Given the description of an element on the screen output the (x, y) to click on. 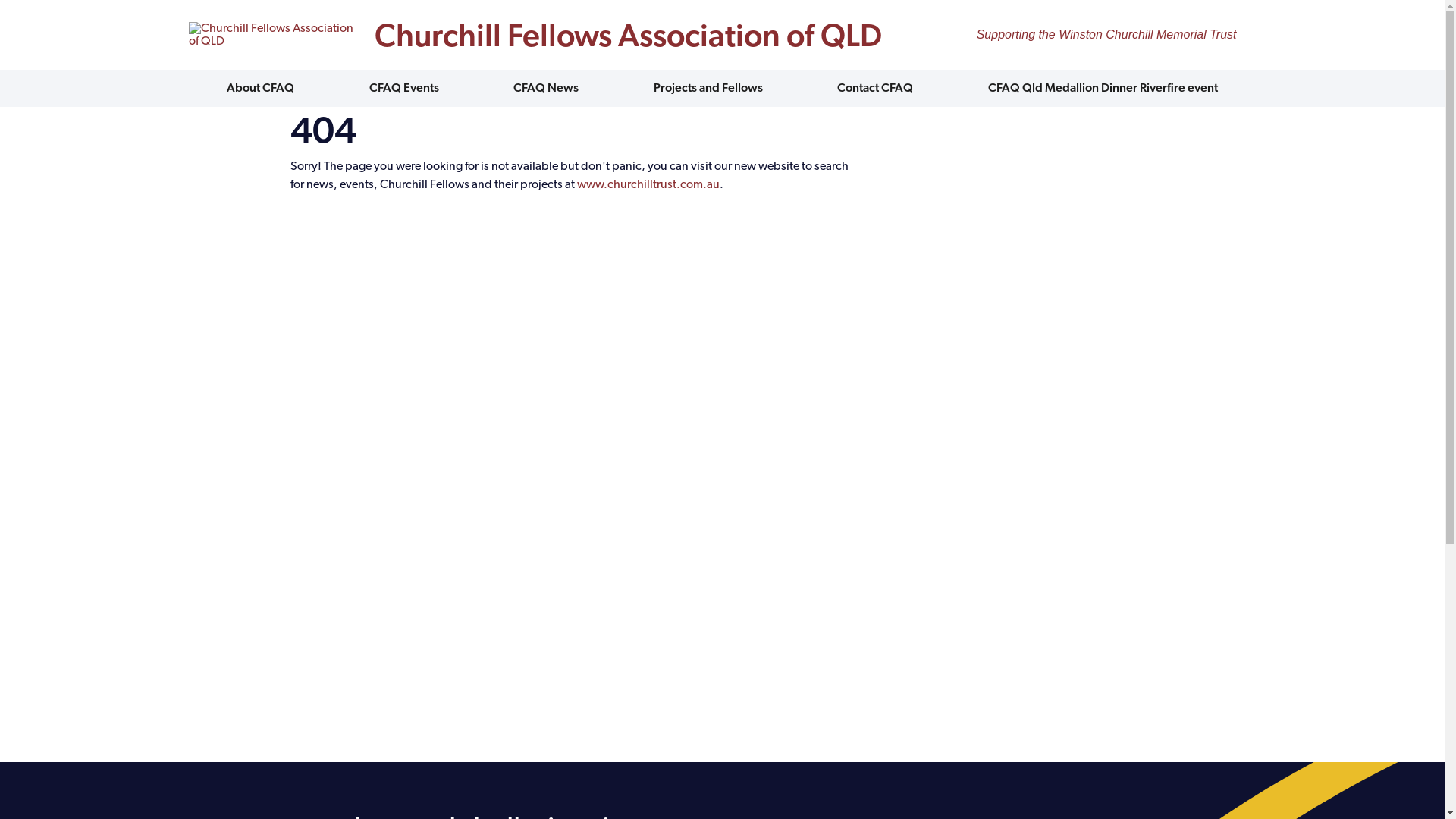
Projects and Fellows Element type: text (707, 87)
About CFAQ Element type: text (260, 87)
CFAQ News Element type: text (545, 87)
CFAQ Qld Medallion Dinner Riverfire event Element type: text (1102, 87)
CFAQ Events Element type: text (404, 87)
Contact CFAQ Element type: text (875, 87)
www.churchilltrust.com.au Element type: text (647, 184)
